Given the description of an element on the screen output the (x, y) to click on. 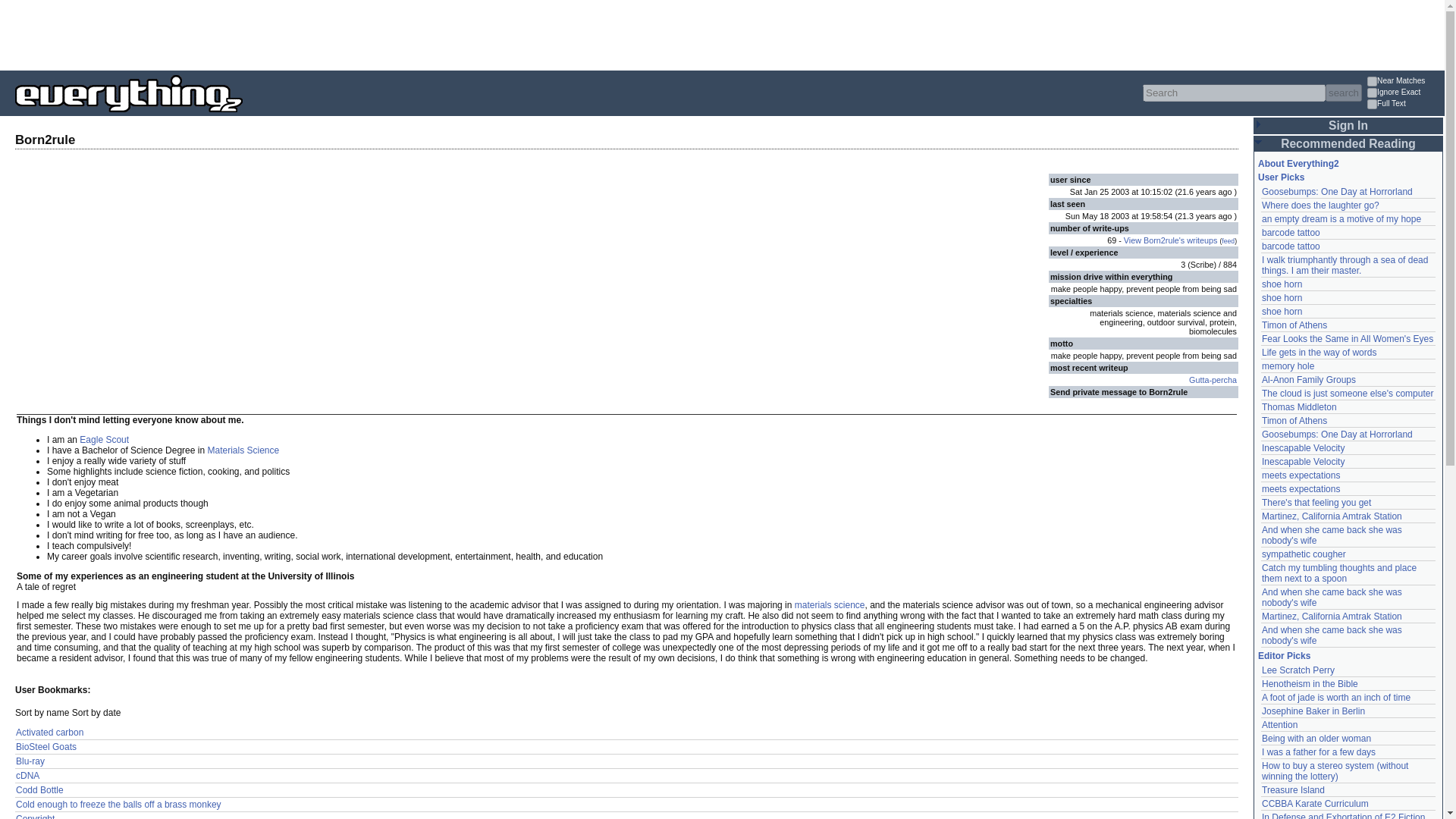
1 (1372, 81)
materials science and engineering (829, 604)
1 (1372, 92)
Search for text within writeups (1404, 104)
Everything (242, 117)
